Given the description of an element on the screen output the (x, y) to click on. 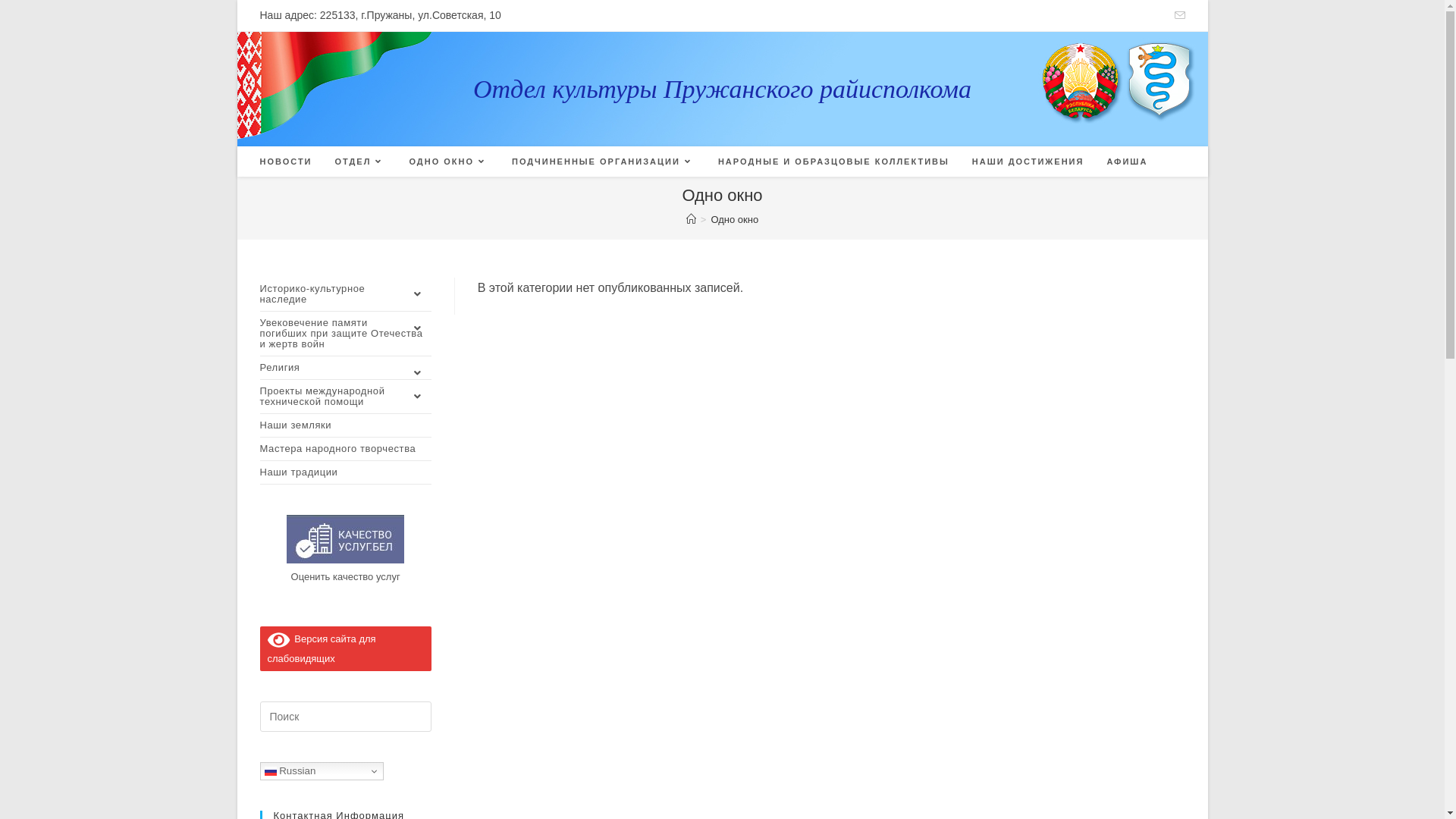
Russian Element type: text (320, 771)
